Given the description of an element on the screen output the (x, y) to click on. 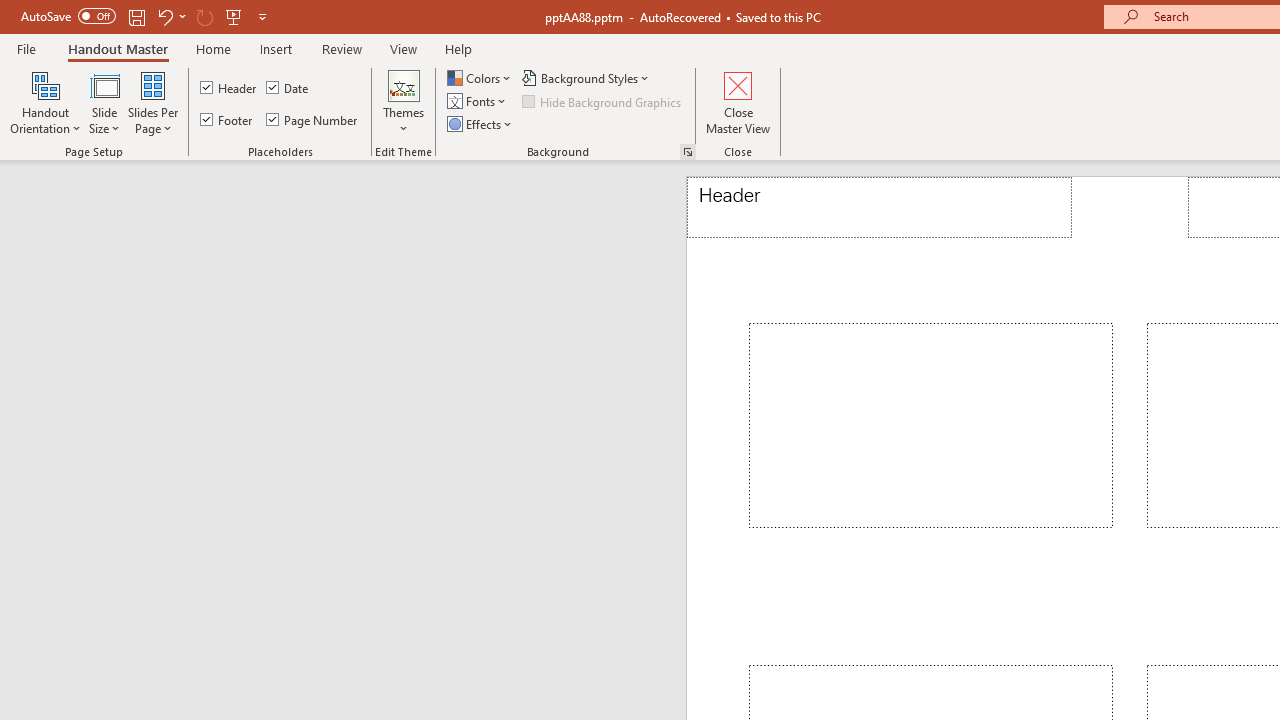
Format Background... (687, 151)
Slide Size (104, 102)
Close Master View (738, 102)
Handout Orientation (45, 102)
Slides Per Page (152, 102)
Footer (227, 119)
